Given the description of an element on the screen output the (x, y) to click on. 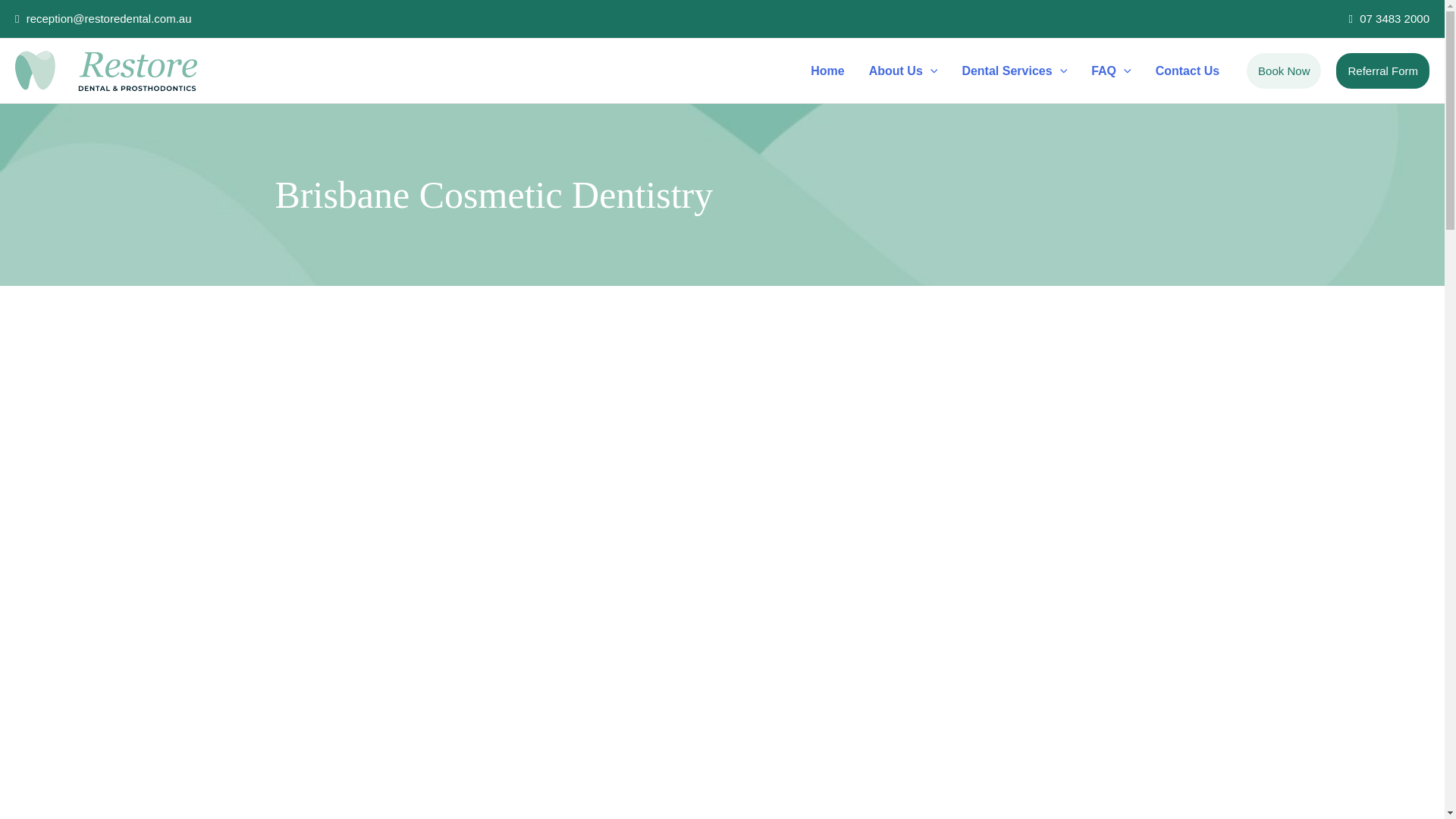
Book Now (1283, 71)
Contact Us (1186, 70)
07 3483 2000 (1389, 18)
Home (826, 70)
FAQ (1110, 70)
About Us (903, 70)
Dental Services (1013, 70)
Referral Form (1382, 71)
